Given the description of an element on the screen output the (x, y) to click on. 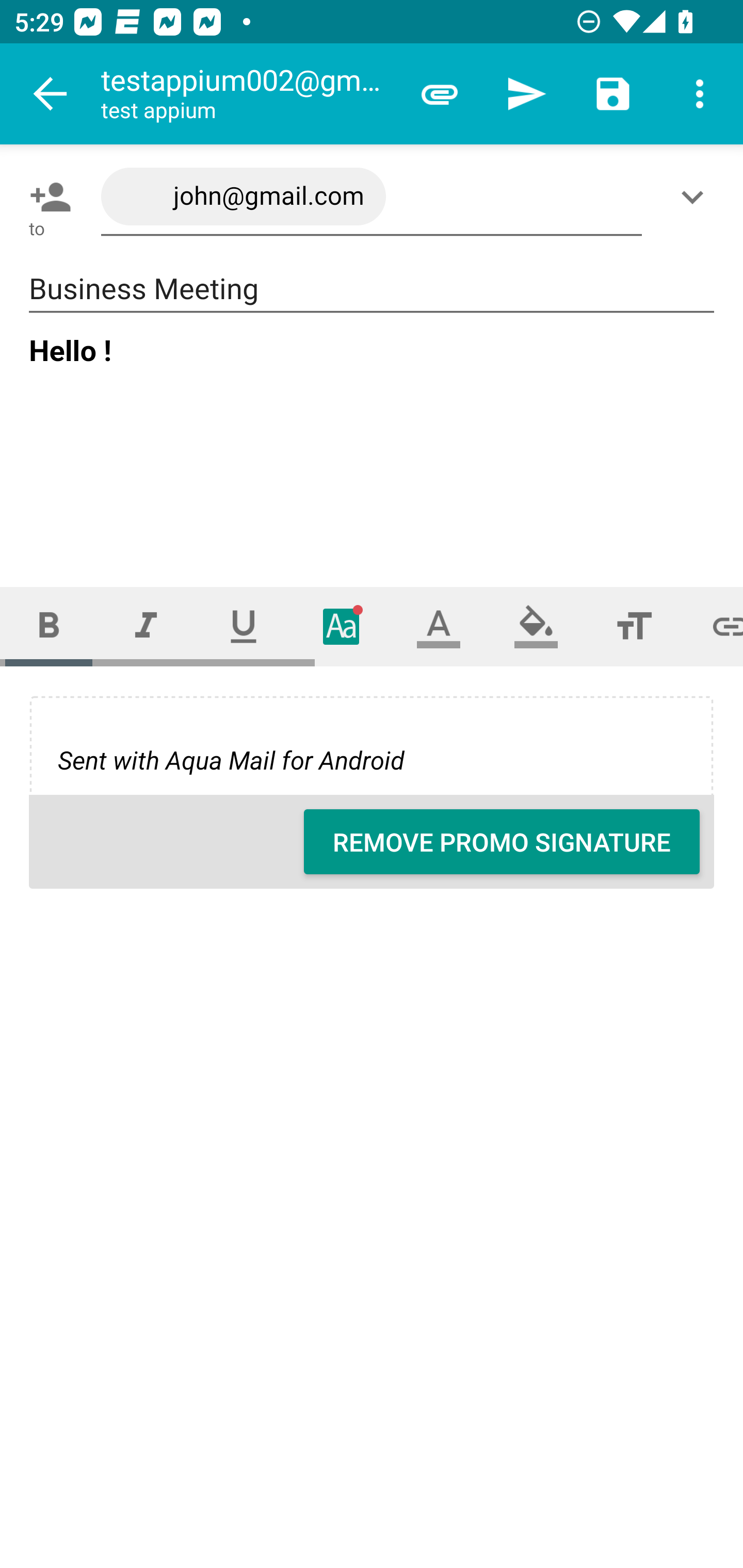
Navigate up (50, 93)
testappium002@gmail.com test appium (248, 93)
Attach (439, 93)
Send (525, 93)
Save (612, 93)
More options (699, 93)
john@gmail.com,  (371, 197)
Pick contact: To (46, 196)
Show/Add CC/BCC (696, 196)
Business Meeting (371, 288)
Hello ! (372, 442)
Bold (48, 626)
Italic (145, 626)
Underline (243, 626)
Typeface (font) (341, 626)
Text color (438, 626)
Fill color (536, 626)
Font size (633, 626)
Set link (712, 626)
REMOVE PROMO SIGNATURE (501, 841)
